Given the description of an element on the screen output the (x, y) to click on. 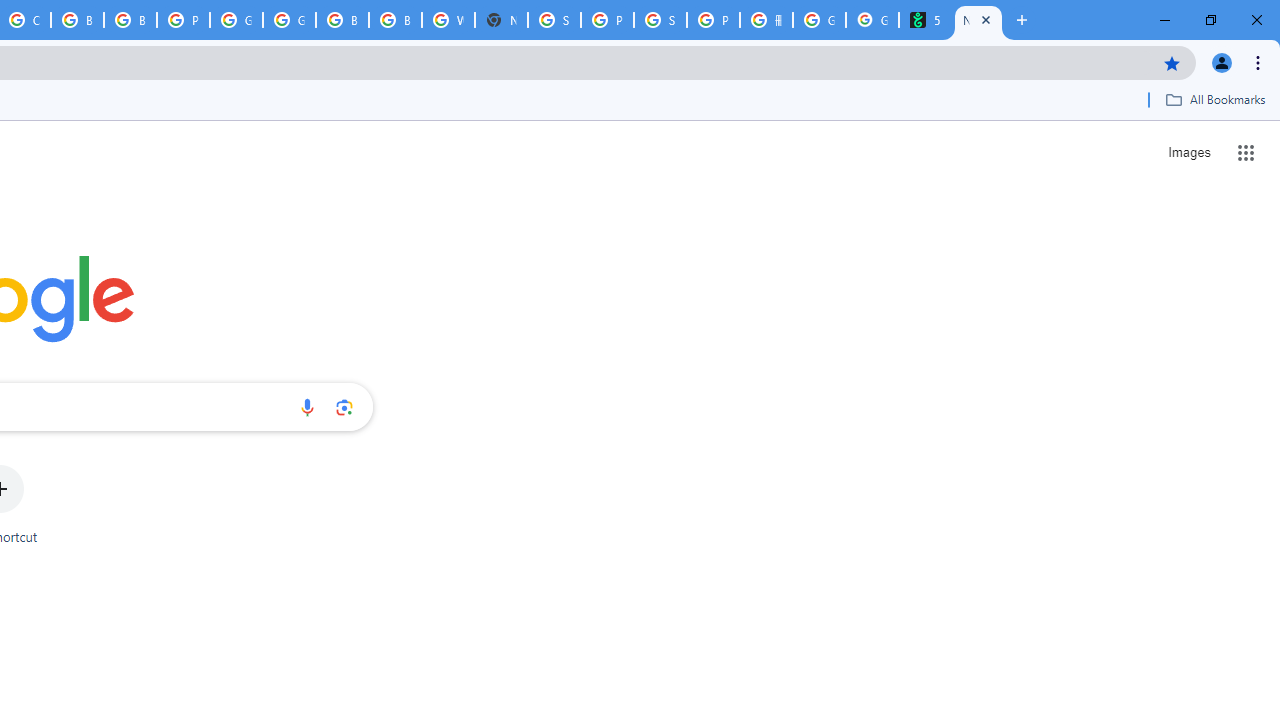
New Tab (978, 20)
New Tab (501, 20)
Browse Chrome as a guest - Computer - Google Chrome Help (342, 20)
